Given the description of an element on the screen output the (x, y) to click on. 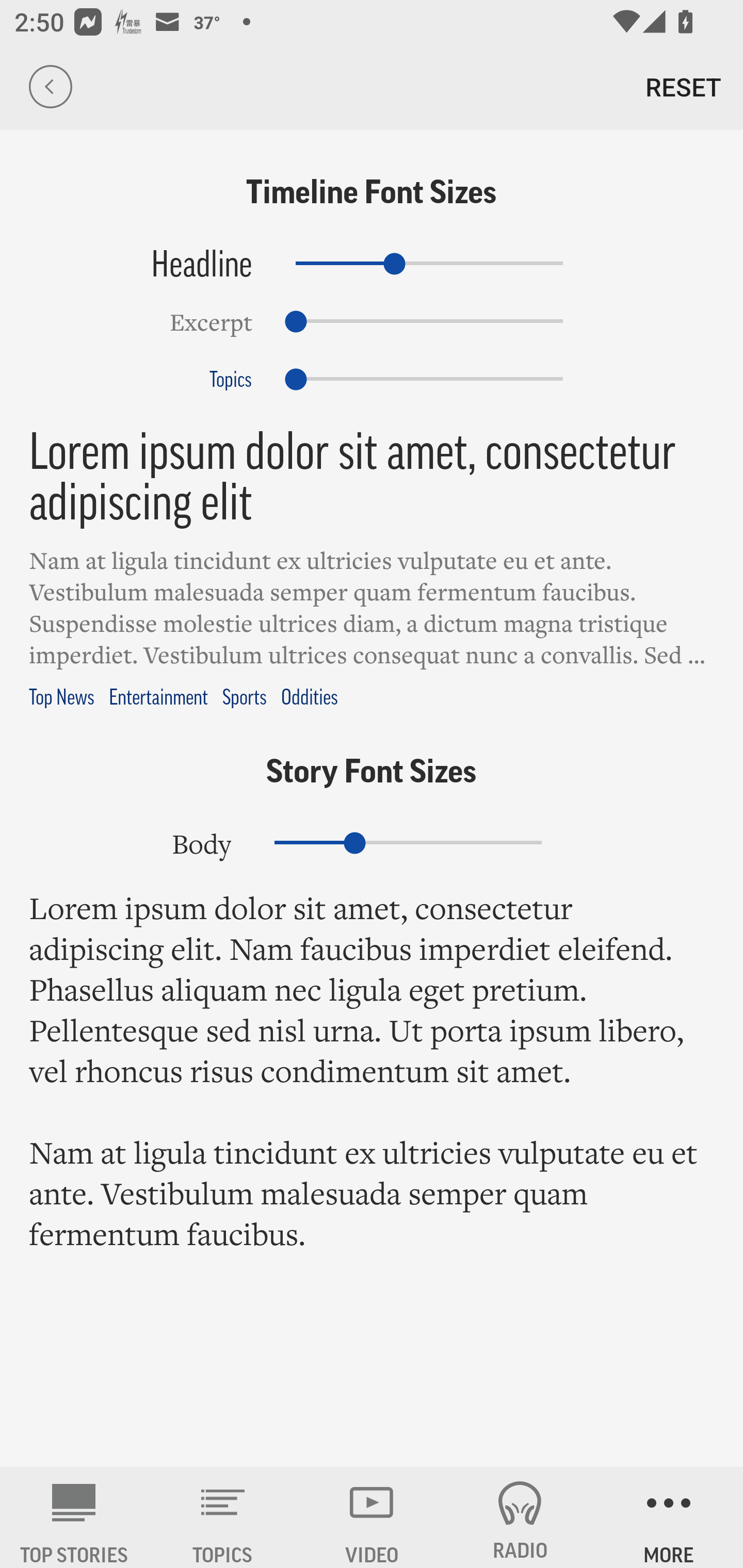
RESET (683, 86)
AP News TOP STORIES (74, 1517)
TOPICS (222, 1517)
VIDEO (371, 1517)
RADIO (519, 1517)
MORE (668, 1517)
